Given the description of an element on the screen output the (x, y) to click on. 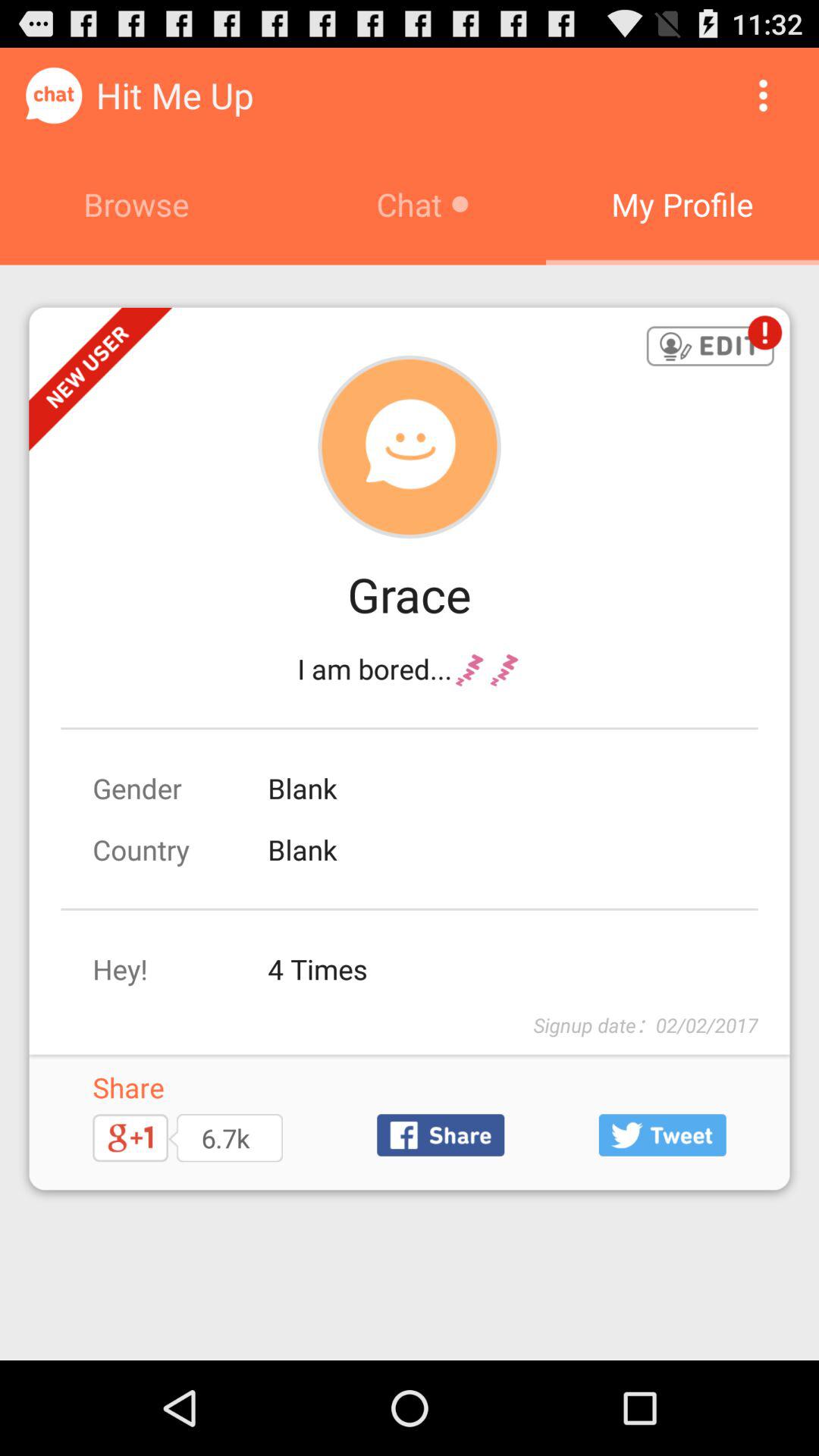
twitter link share button (662, 1135)
